Given the description of an element on the screen output the (x, y) to click on. 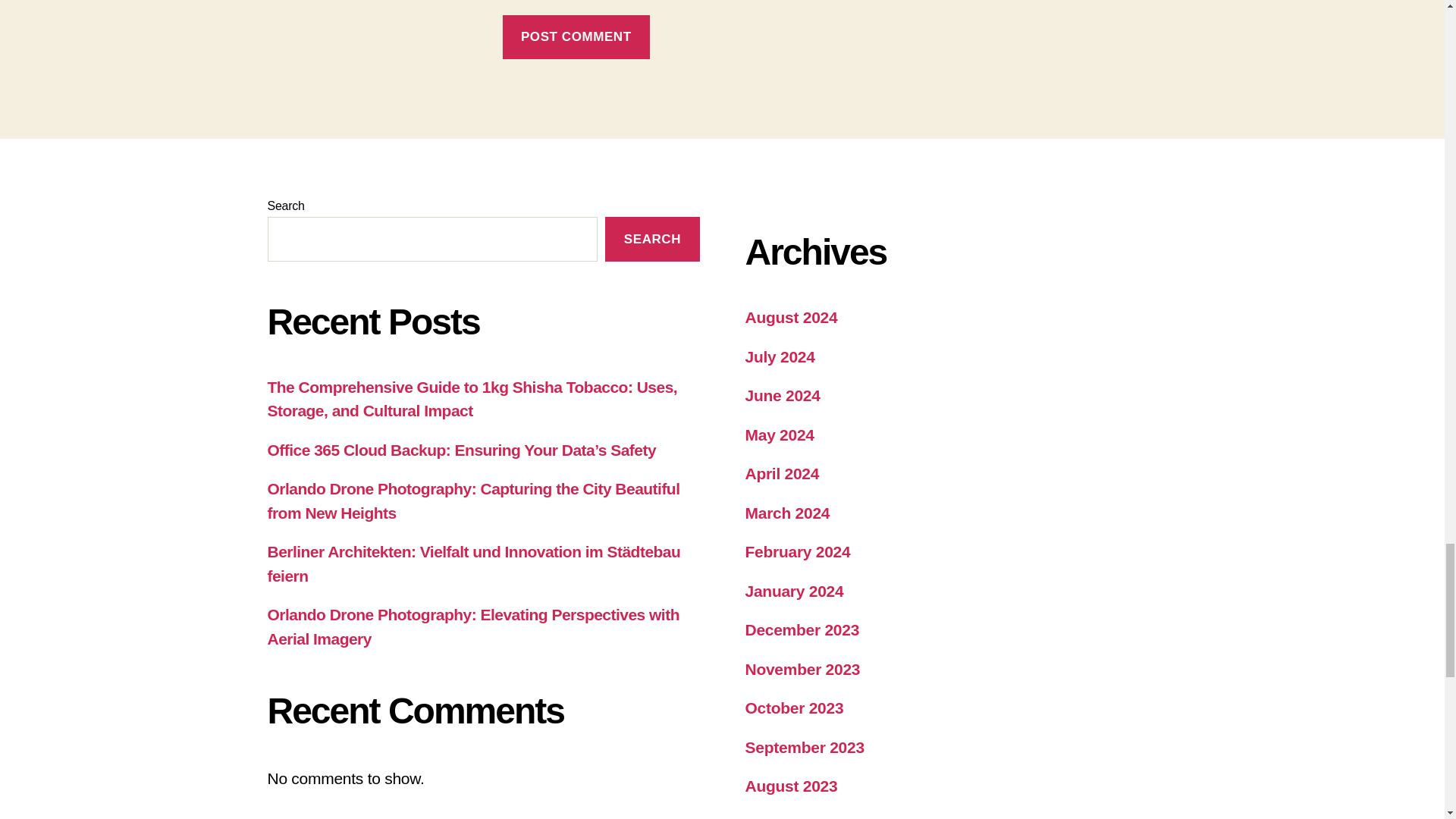
October 2023 (793, 707)
March 2024 (786, 512)
August 2023 (790, 785)
June 2024 (781, 395)
November 2023 (802, 669)
Post Comment (575, 37)
December 2023 (801, 629)
September 2023 (803, 746)
Post Comment (575, 37)
